Given the description of an element on the screen output the (x, y) to click on. 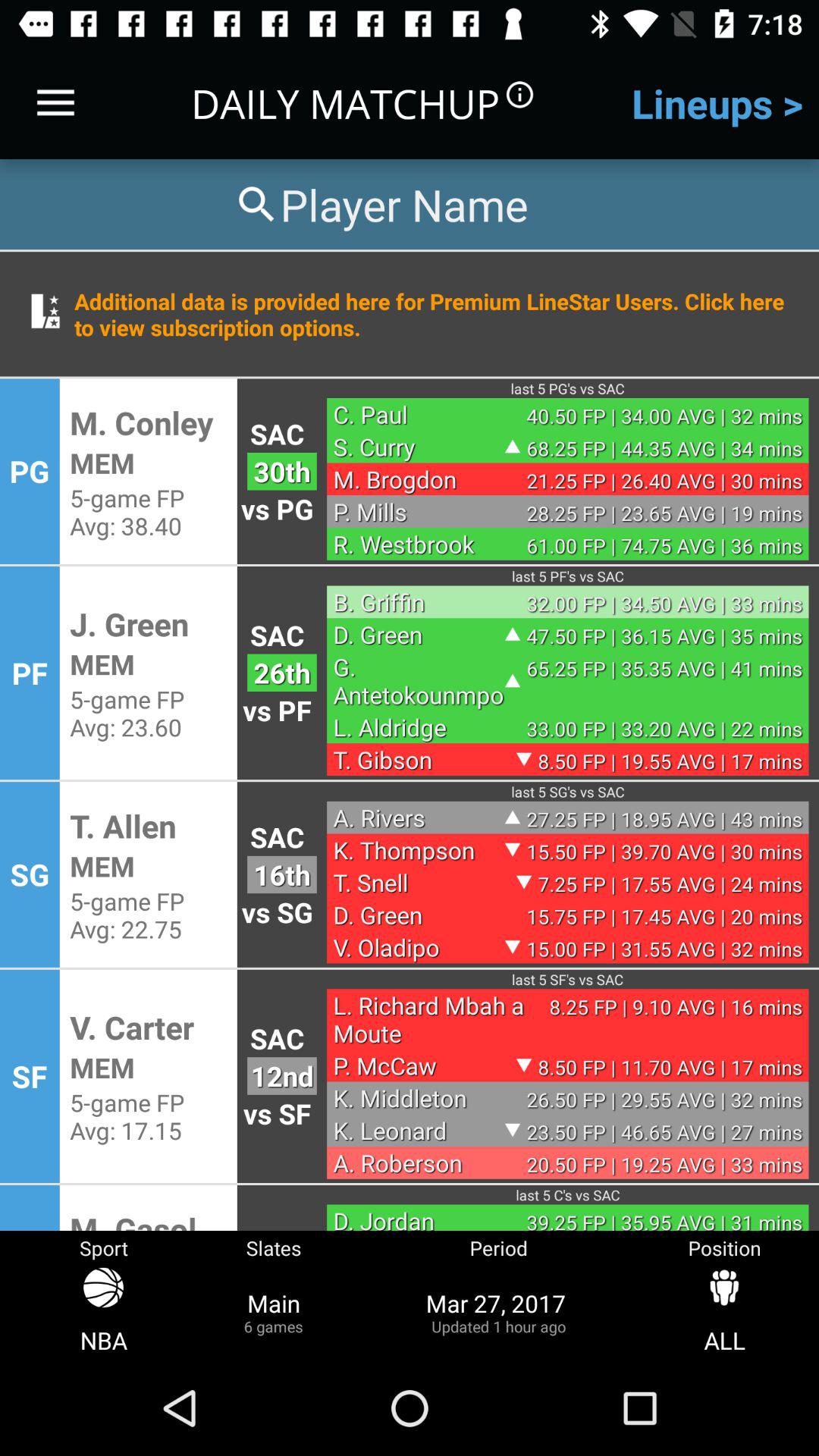
click the icon above the vs sg item (281, 874)
